Given the description of an element on the screen output the (x, y) to click on. 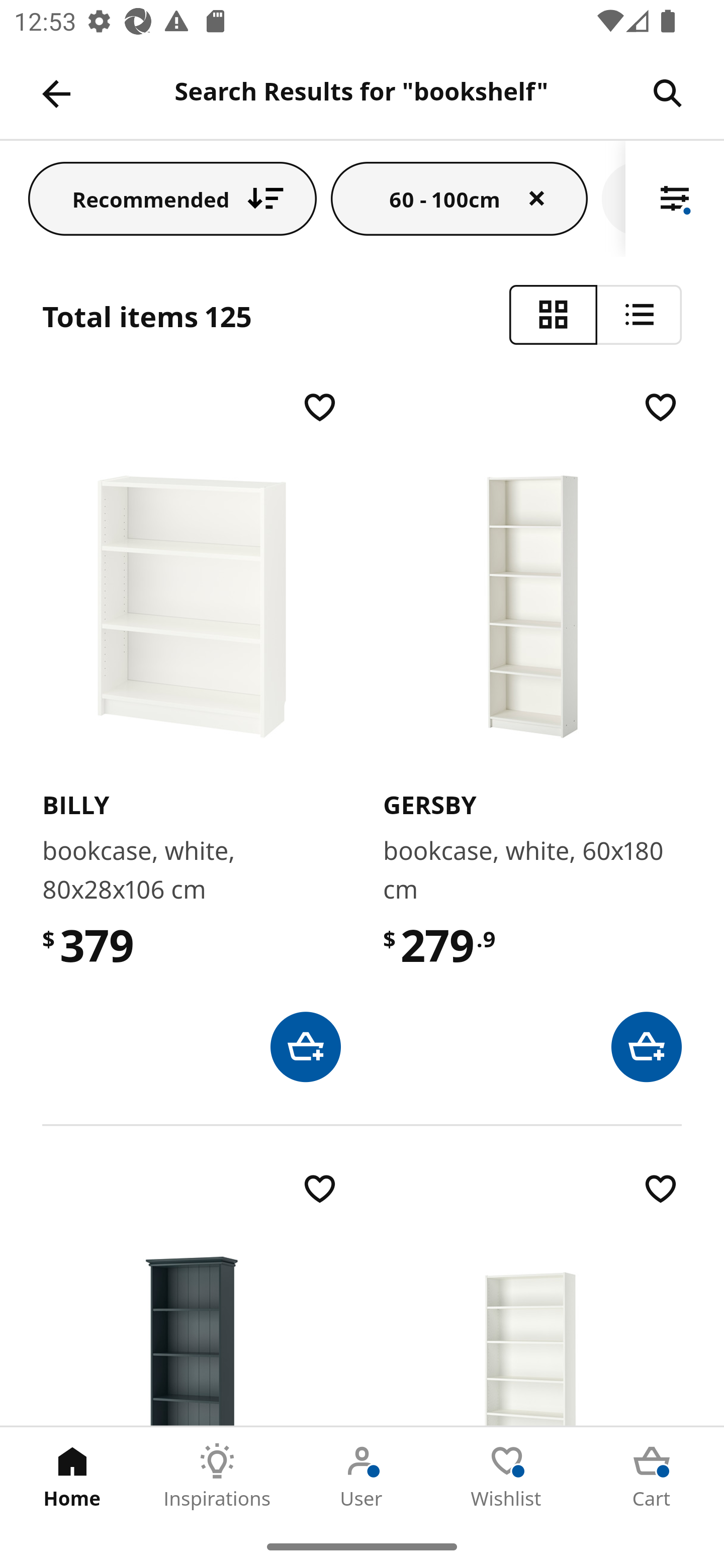
Recommended (172, 198)
60 - 100cm (458, 198)
​B​I​L​L​Y​
bookcase, white, 80x28x106 cm
$
379 (191, 734)
​G​E​R​S​B​Y​
bookcase, white, 60x180 cm
$
279
.9 (532, 734)
Home
Tab 1 of 5 (72, 1476)
Inspirations
Tab 2 of 5 (216, 1476)
User
Tab 3 of 5 (361, 1476)
Wishlist
Tab 4 of 5 (506, 1476)
Cart
Tab 5 of 5 (651, 1476)
